Given the description of an element on the screen output the (x, y) to click on. 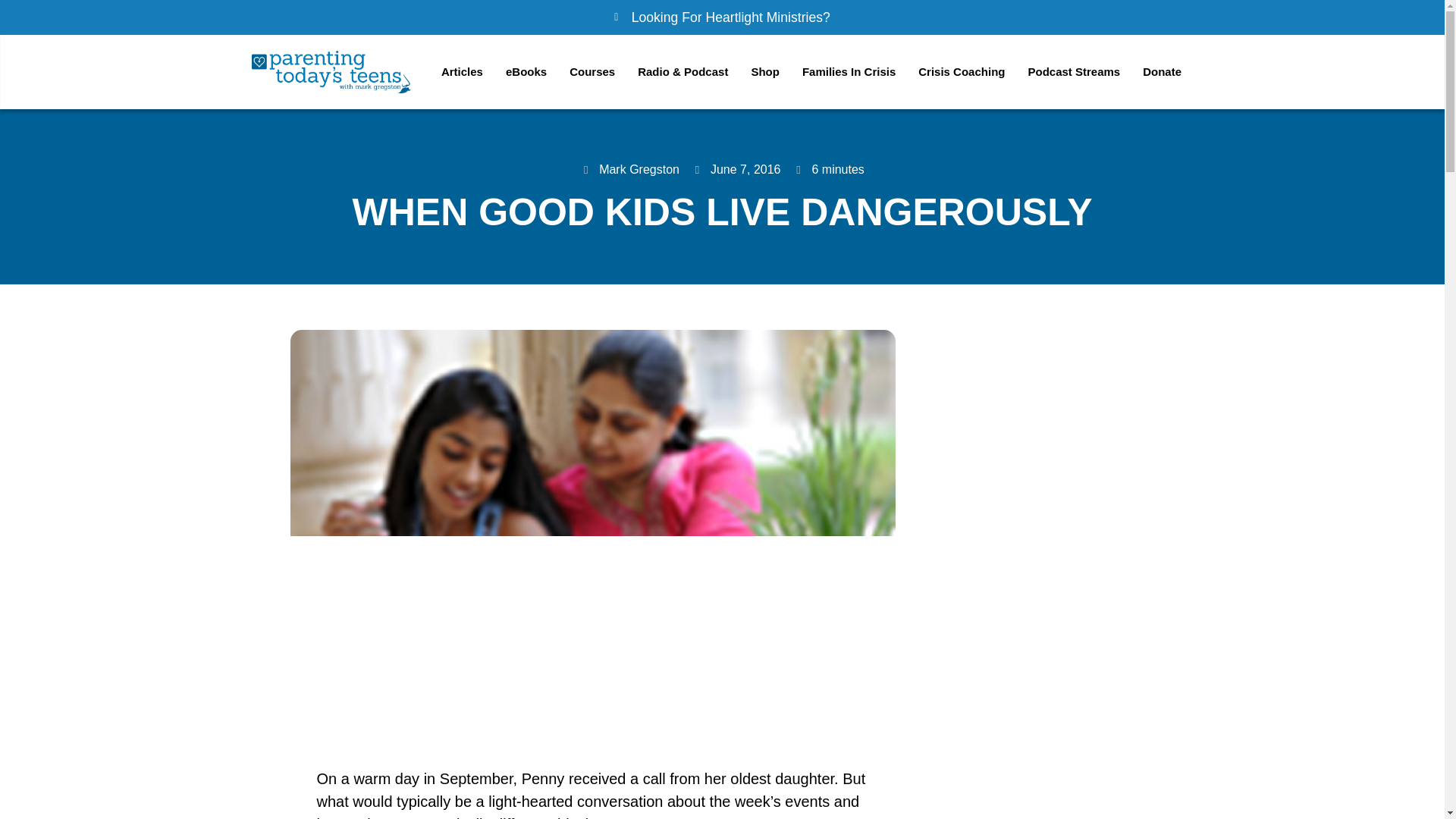
Shop (764, 71)
Courses (591, 71)
Donate (1161, 71)
Podcast Streams (1073, 71)
Families In Crisis (848, 71)
Articles (462, 71)
Crisis Coaching (961, 71)
June 7, 2016 (735, 170)
eBooks (526, 71)
Looking For Heartlight Ministries? (722, 17)
